Given the description of an element on the screen output the (x, y) to click on. 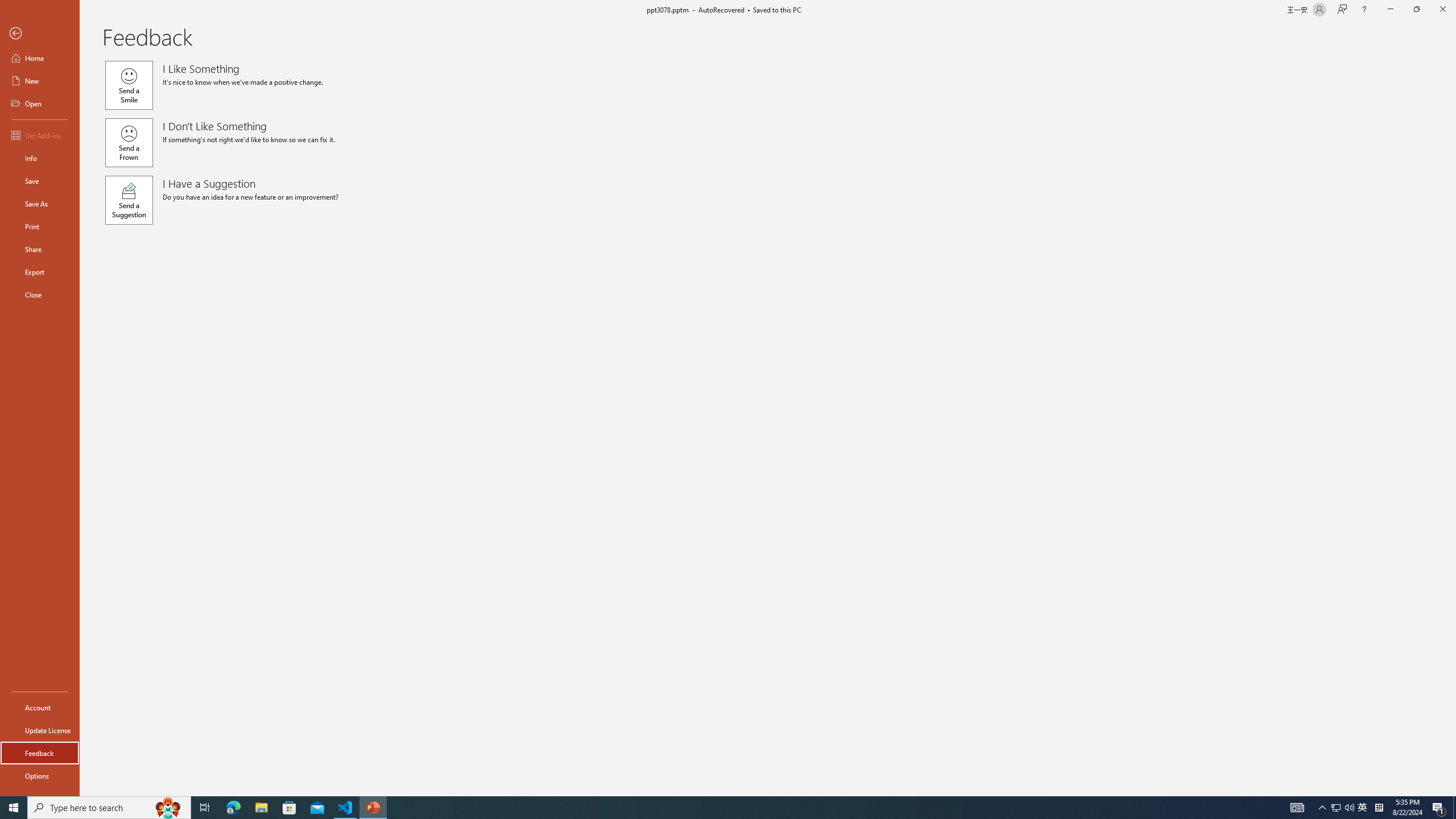
Back (40, 33)
Account (40, 707)
Get Add-ins (40, 134)
Send a Frown (128, 142)
Send a Suggestion (128, 200)
Update License (40, 730)
Send a Smile (128, 84)
New (40, 80)
